Given the description of an element on the screen output the (x, y) to click on. 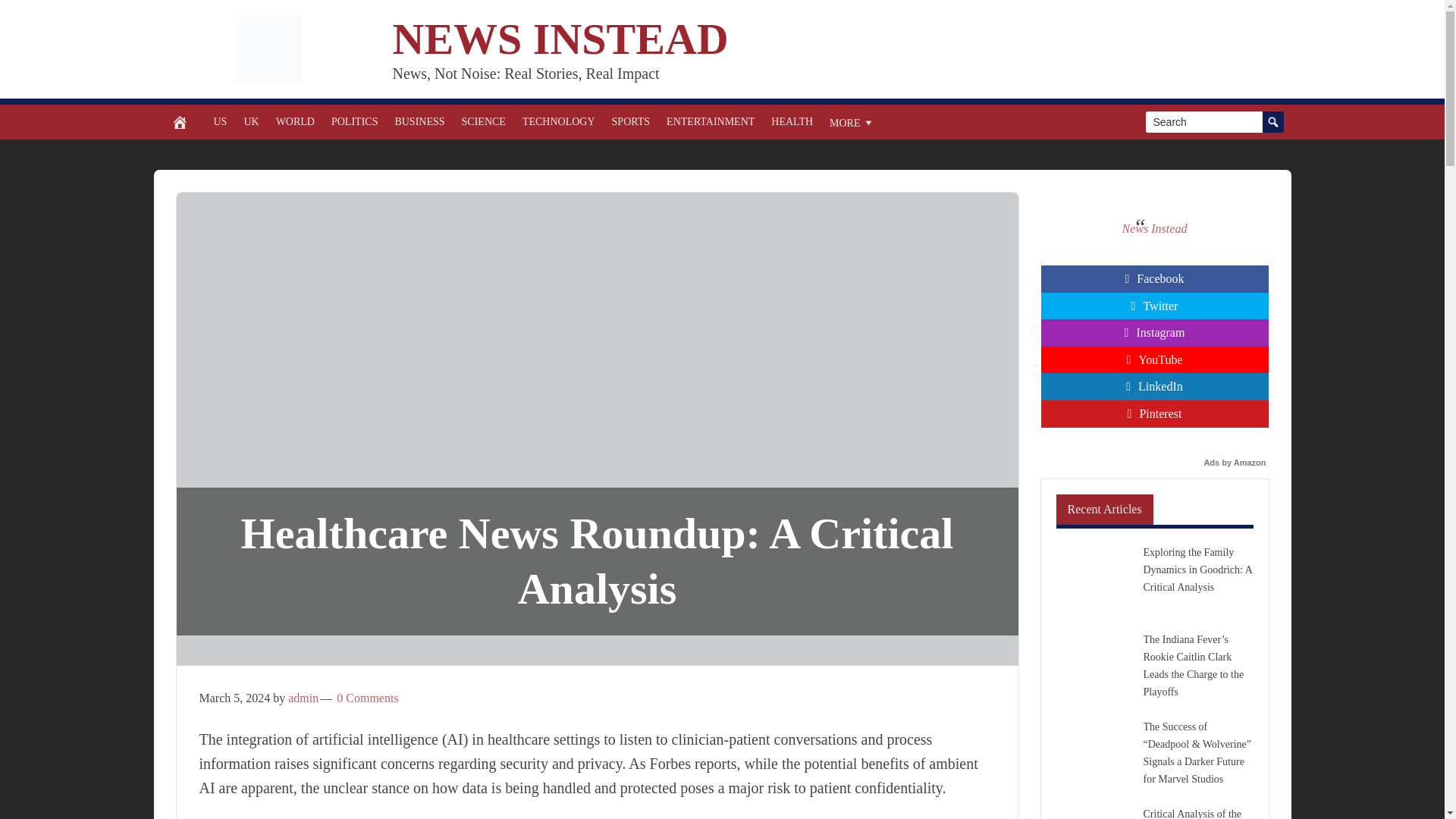
WORLD (295, 121)
HEALTH (791, 121)
ENTERTAINMENT (710, 121)
POLITICS (354, 121)
MORE (851, 121)
SCIENCE (482, 121)
NEWS INSTEAD (561, 38)
TECHNOLOGY (558, 121)
BUSINESS (418, 121)
SPORTS (631, 121)
